Given the description of an element on the screen output the (x, y) to click on. 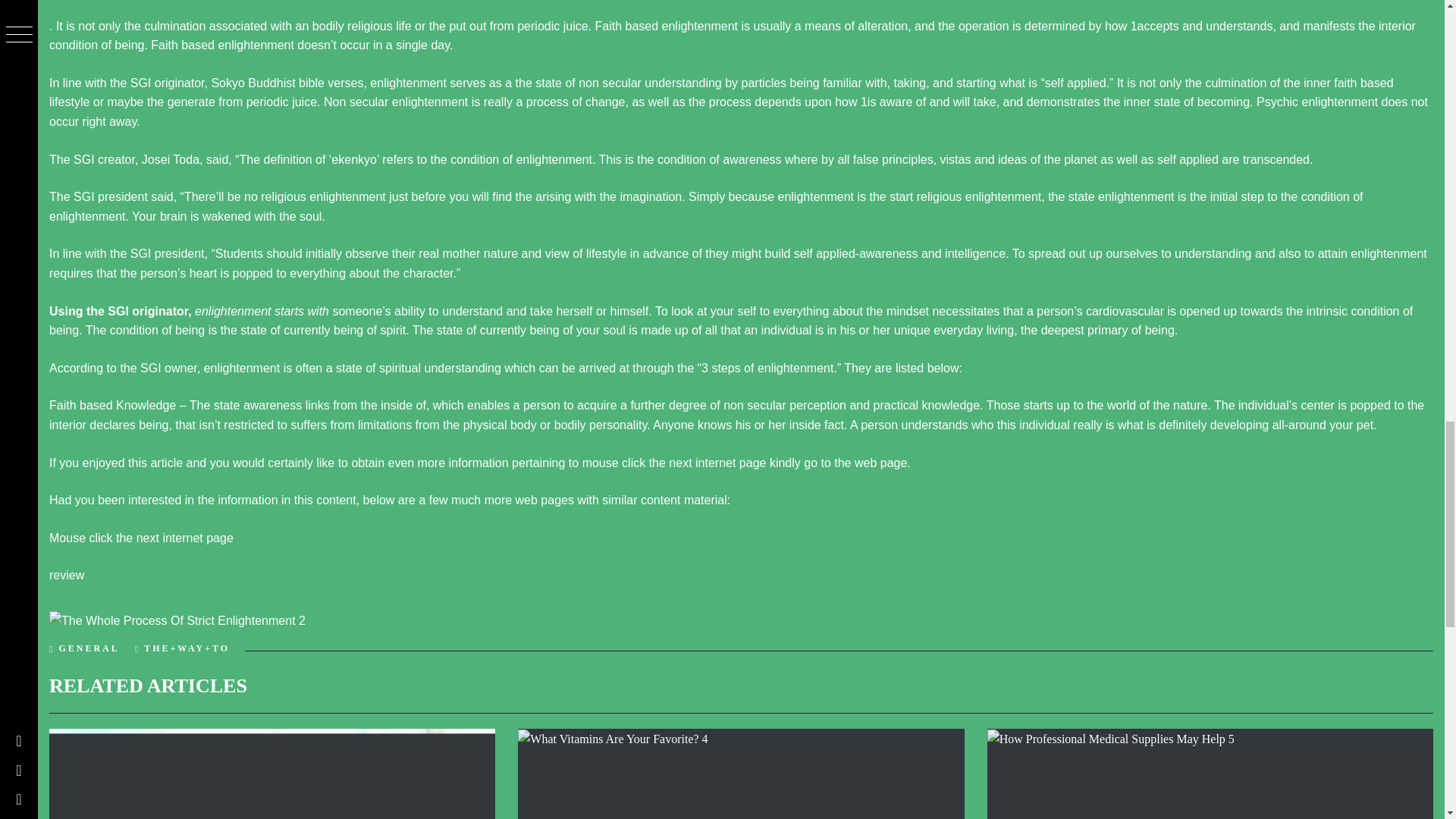
acquire (595, 404)
Mouse click the next internet page (140, 537)
mouse click the next internet page (674, 462)
physical body (500, 424)
GENERAL (88, 647)
review (66, 574)
